Given the description of an element on the screen output the (x, y) to click on. 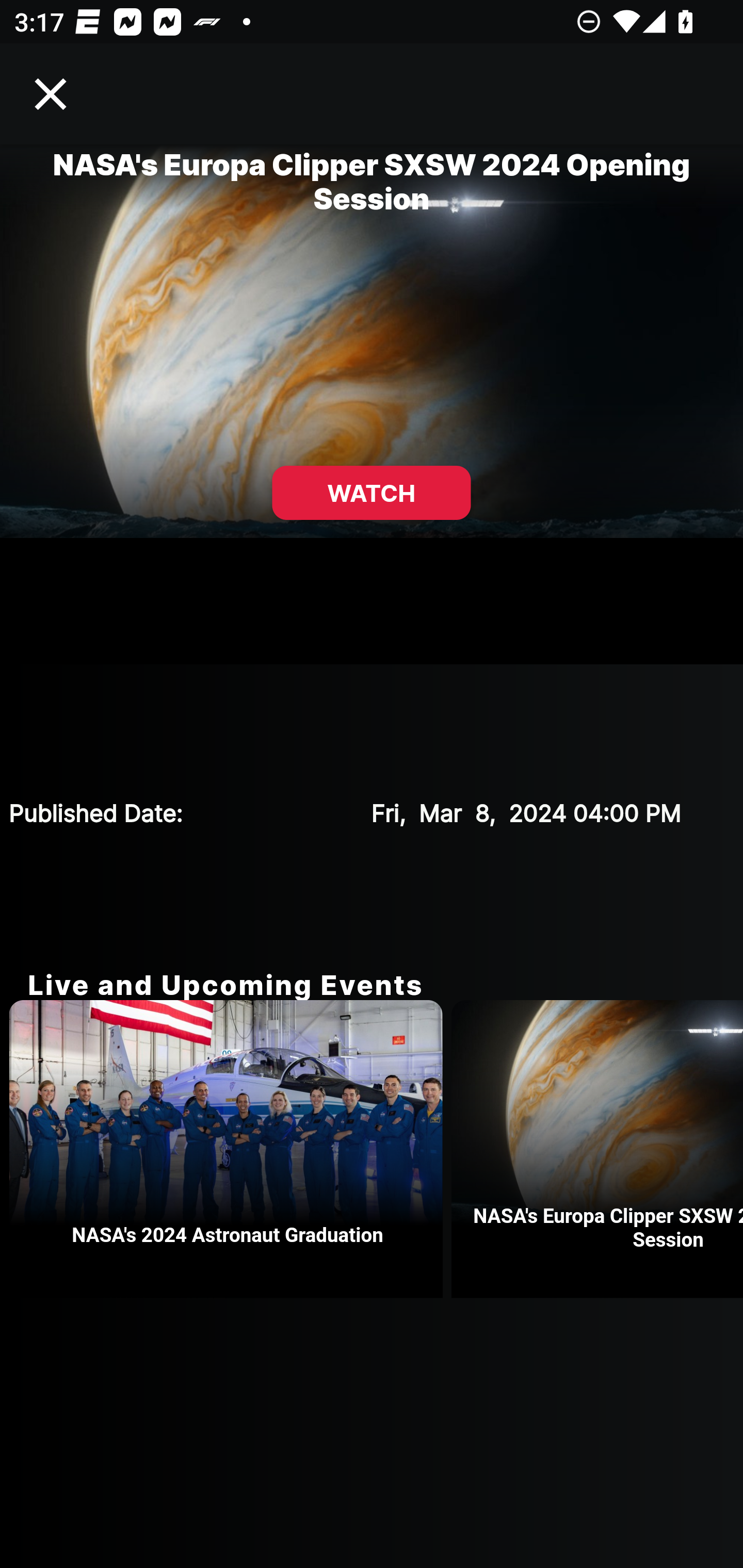
WATCH (371, 492)
NASA's 2024 Astronaut Graduation (229, 1149)
NASA's Europa Clipper SXSW 2024 Opening Session (597, 1149)
